Given the description of an element on the screen output the (x, y) to click on. 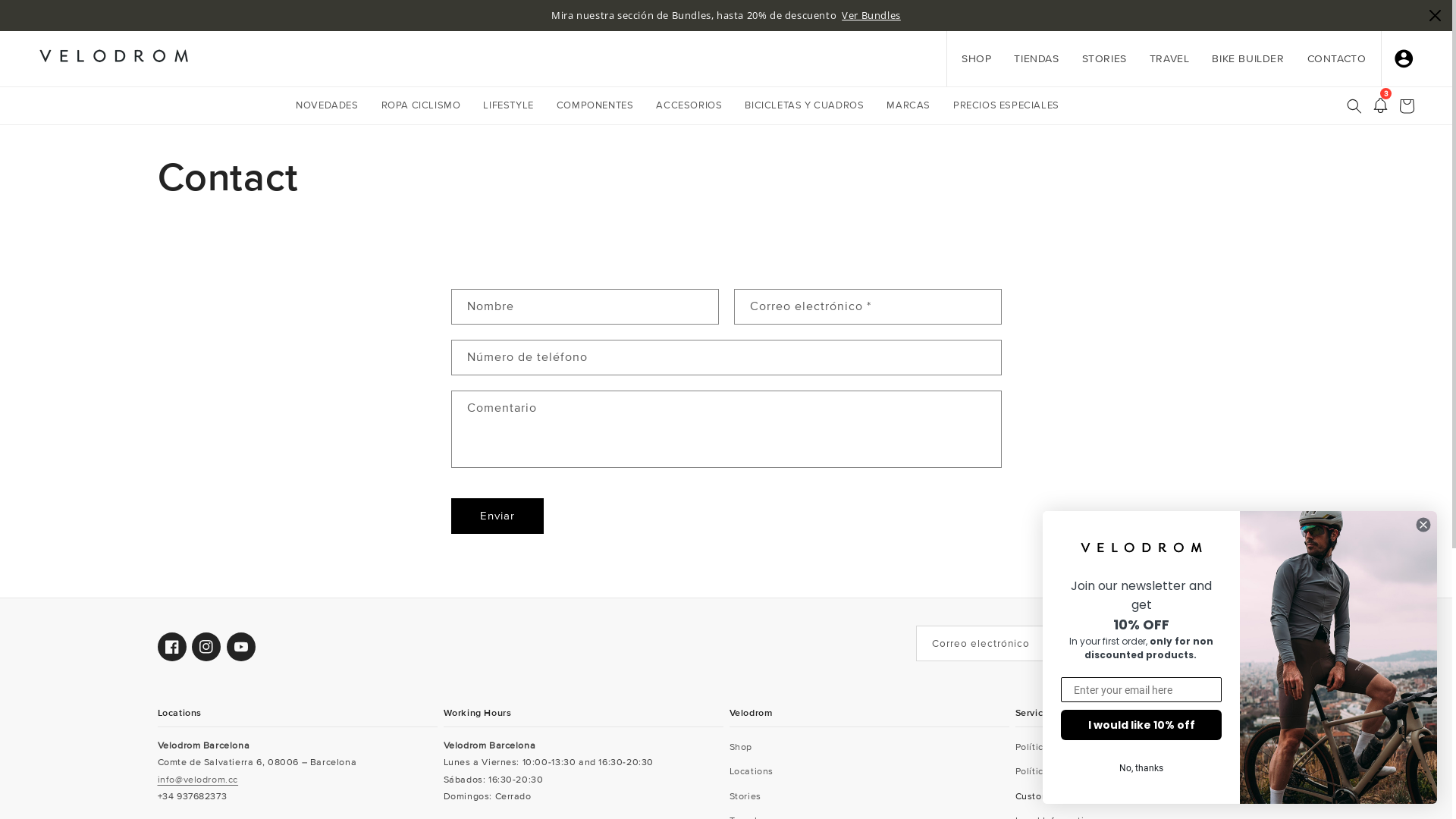
Enviar Element type: text (493, 515)
Instagram Element type: text (202, 646)
Carrito Element type: text (1398, 105)
Shop Element type: text (735, 748)
TIENDAS Element type: text (1028, 58)
Suscribirse Element type: text (1244, 643)
BIKE BUILDER Element type: text (1240, 58)
RAPHASAVE25 Element type: text (941, 15)
YouTube Element type: text (236, 646)
Locations Element type: text (746, 771)
Customer Service Element type: text (1051, 796)
TRAVEL Element type: text (1162, 58)
CONTACTO Element type: text (1328, 58)
info@velodrom.cc Element type: text (193, 779)
3 Element type: text (1372, 104)
SHOP Element type: text (968, 58)
Facebook Element type: text (167, 646)
Stories Element type: text (740, 796)
STORIES Element type: text (1096, 58)
